Given the description of an element on the screen output the (x, y) to click on. 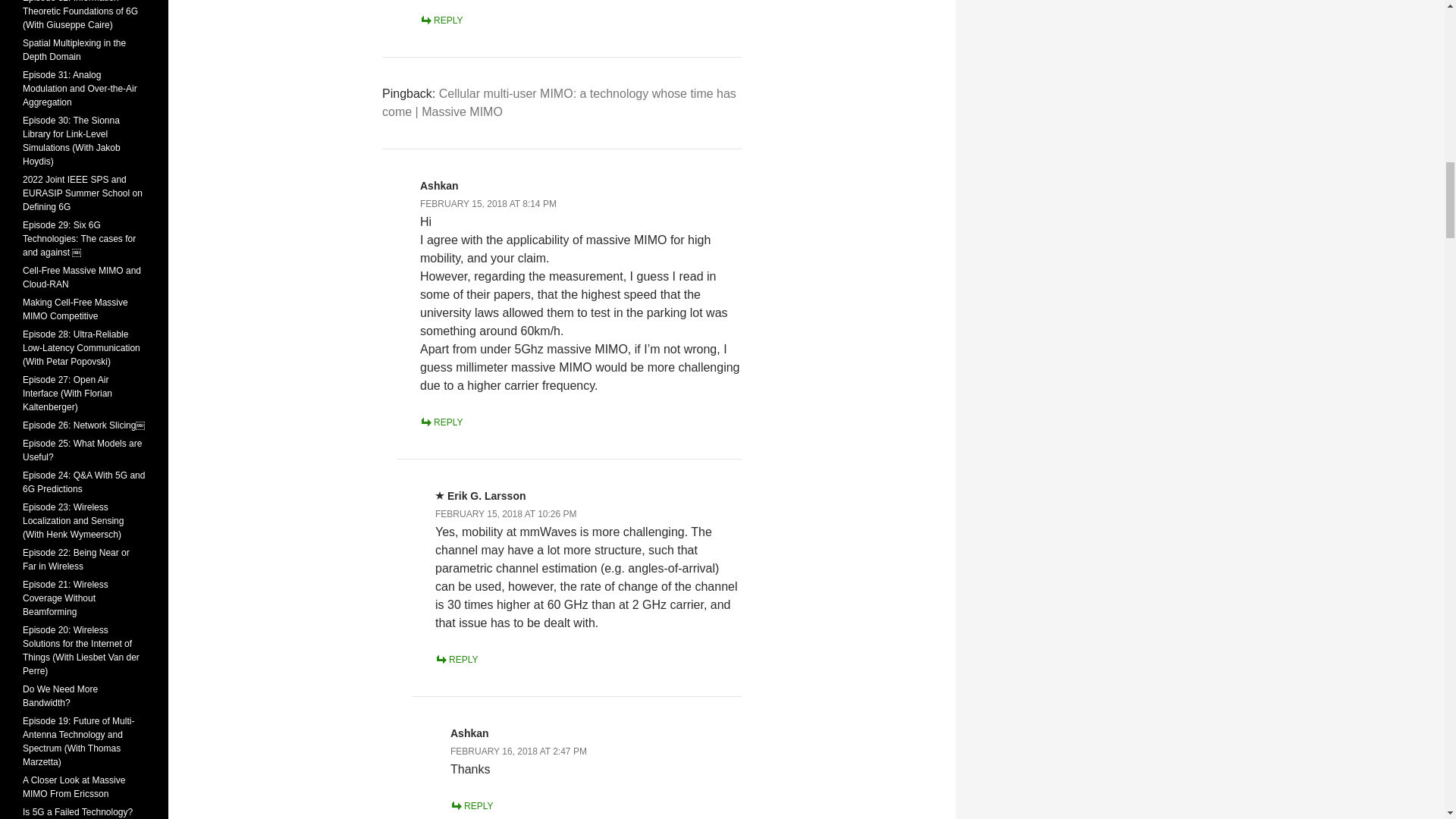
FEBRUARY 15, 2018 AT 10:26 PM (505, 513)
REPLY (456, 659)
FEBRUARY 16, 2018 AT 2:47 PM (517, 751)
REPLY (471, 805)
REPLY (441, 421)
FEBRUARY 15, 2018 AT 8:14 PM (488, 204)
REPLY (441, 20)
